Given the description of an element on the screen output the (x, y) to click on. 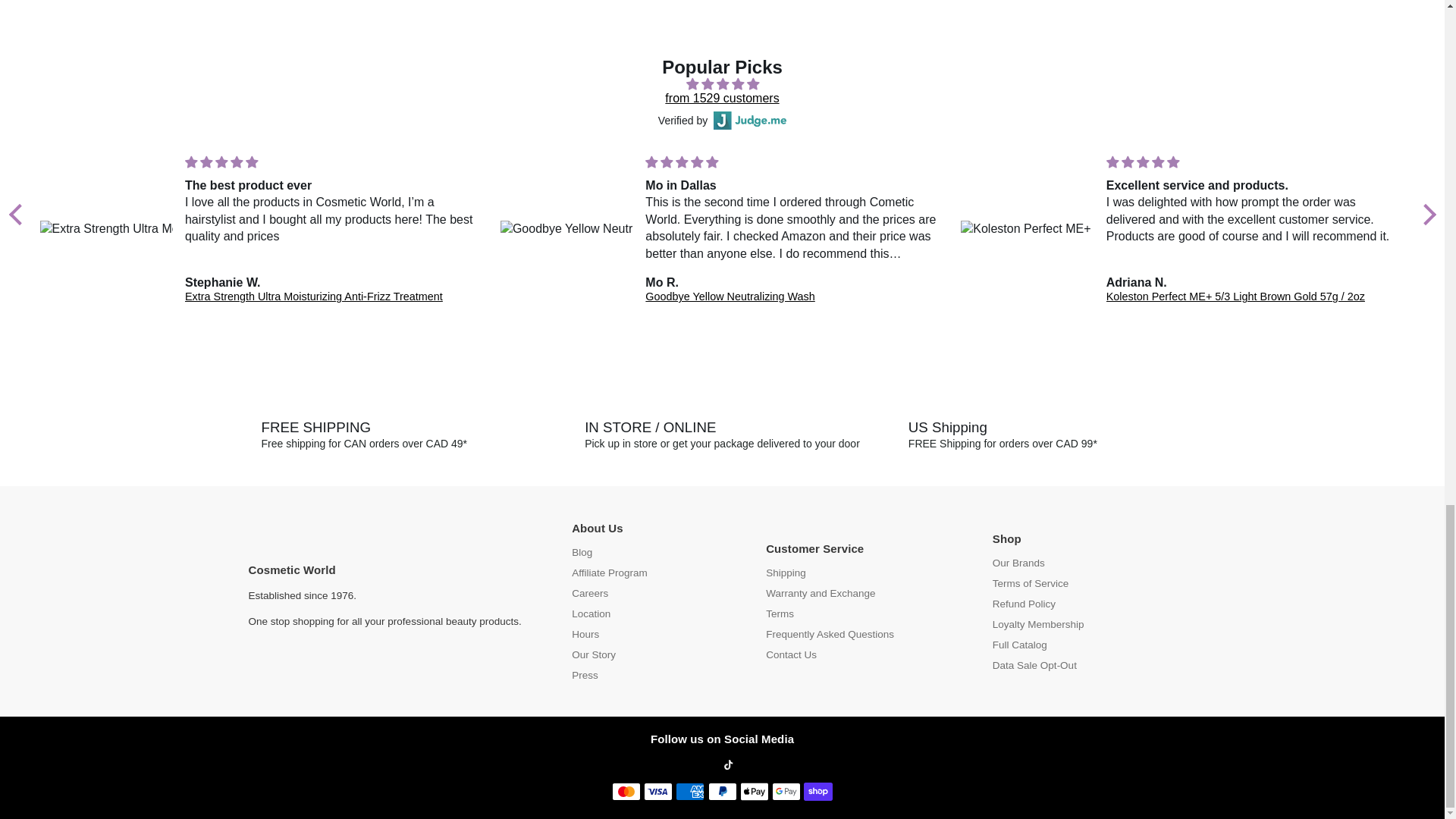
American Express (689, 791)
Google Pay (785, 791)
Shop Pay (817, 791)
Mastercard (625, 791)
Visa (657, 791)
PayPal (721, 791)
Apple Pay (753, 791)
